Given the description of an element on the screen output the (x, y) to click on. 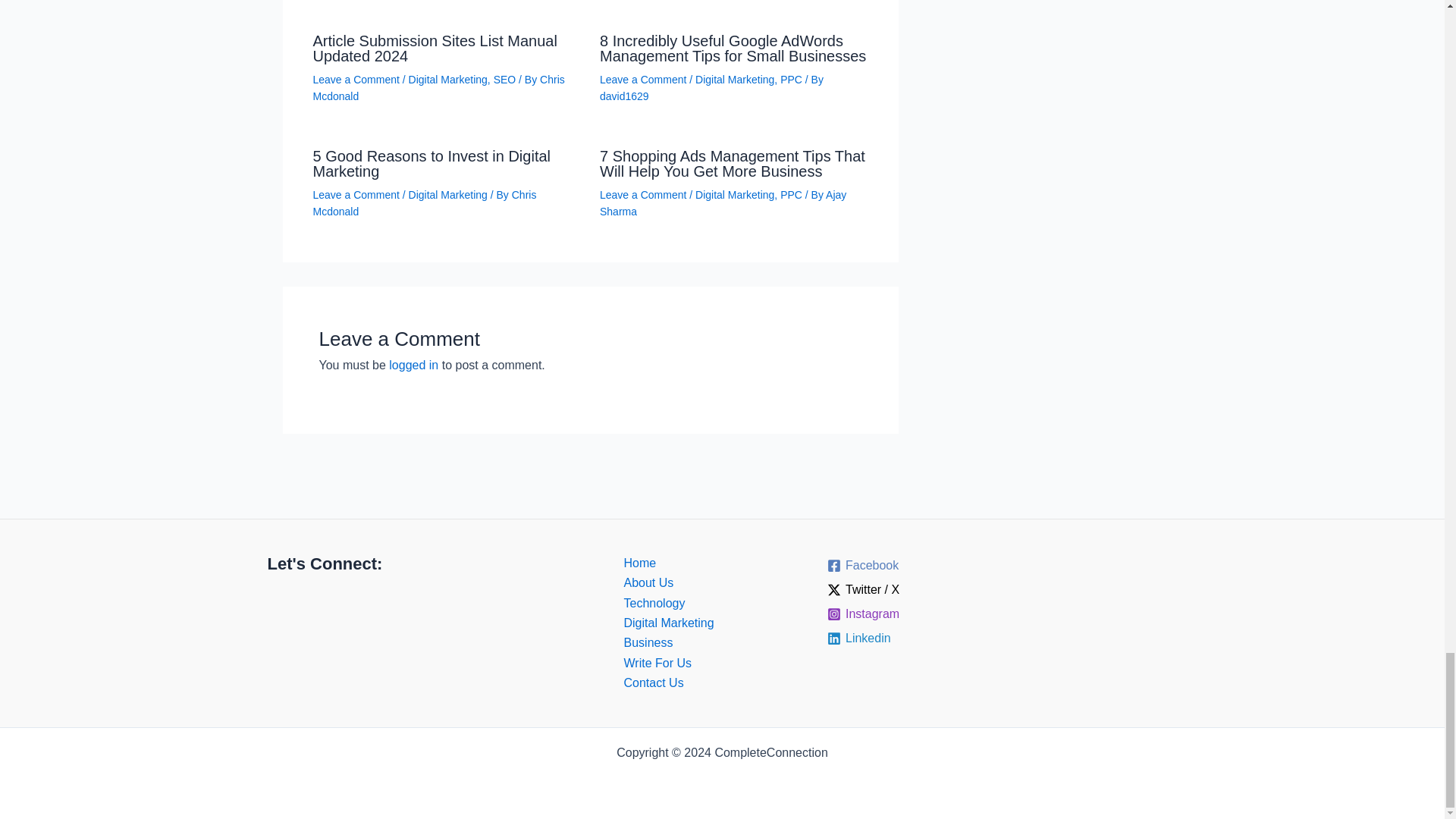
Digital Marketing (448, 79)
Article Submission Sites List Manual Updated 2024 (434, 48)
View all posts by Chris Mcdonald (438, 87)
SEO (504, 79)
View all posts by Chris Mcdonald (424, 203)
View all posts by Ajay Sharma (722, 203)
View all posts by david1629 (624, 96)
Leave a Comment (355, 79)
